Given the description of an element on the screen output the (x, y) to click on. 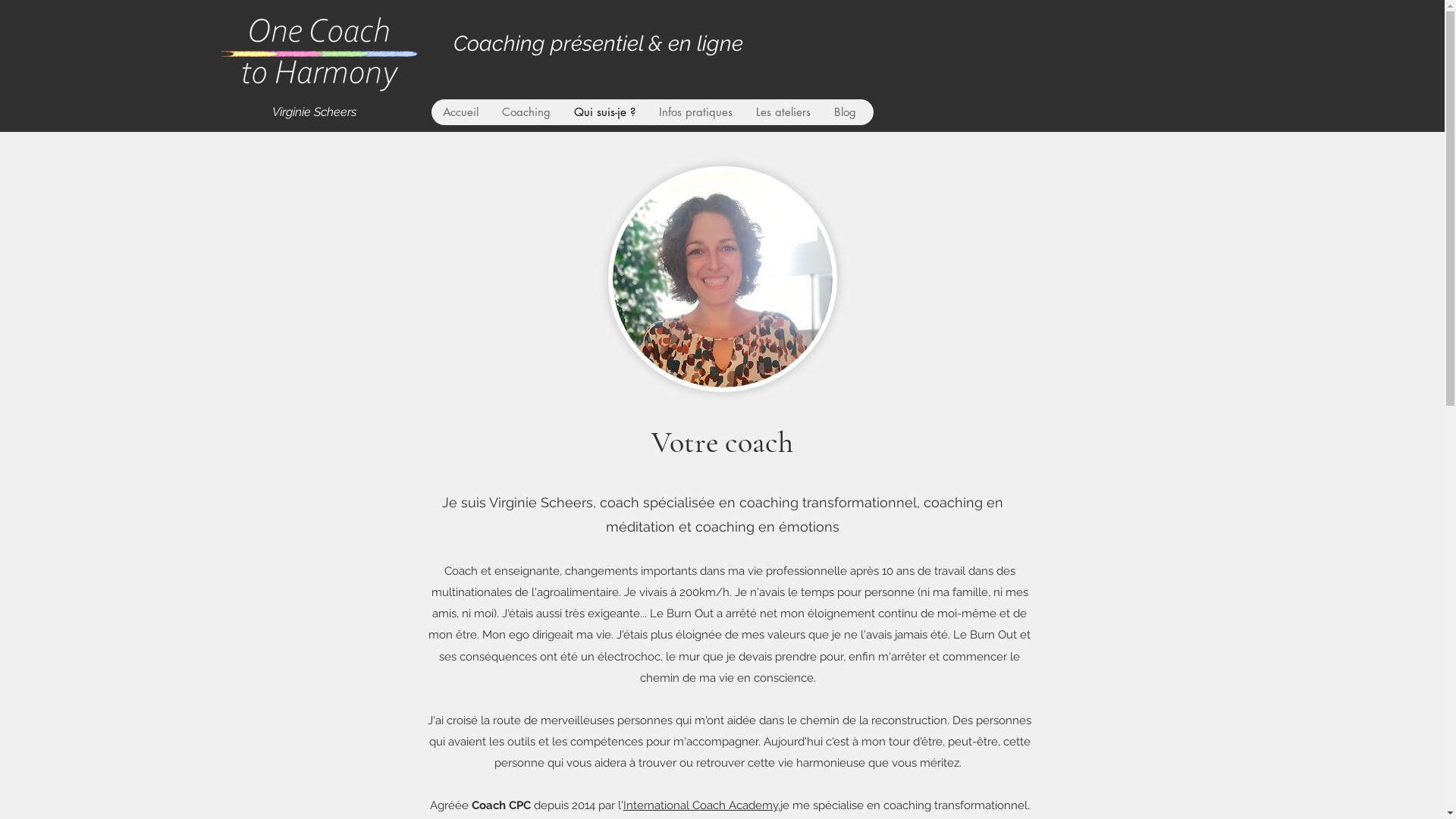
International Coach Academy Element type: text (700, 805)
1C2H 2 TRANSPARENT.png Element type: hover (318, 46)
Accueil Element type: text (460, 112)
Qui suis-je ? Element type: text (603, 112)
Blog Element type: text (844, 112)
